Given the description of an element on the screen output the (x, y) to click on. 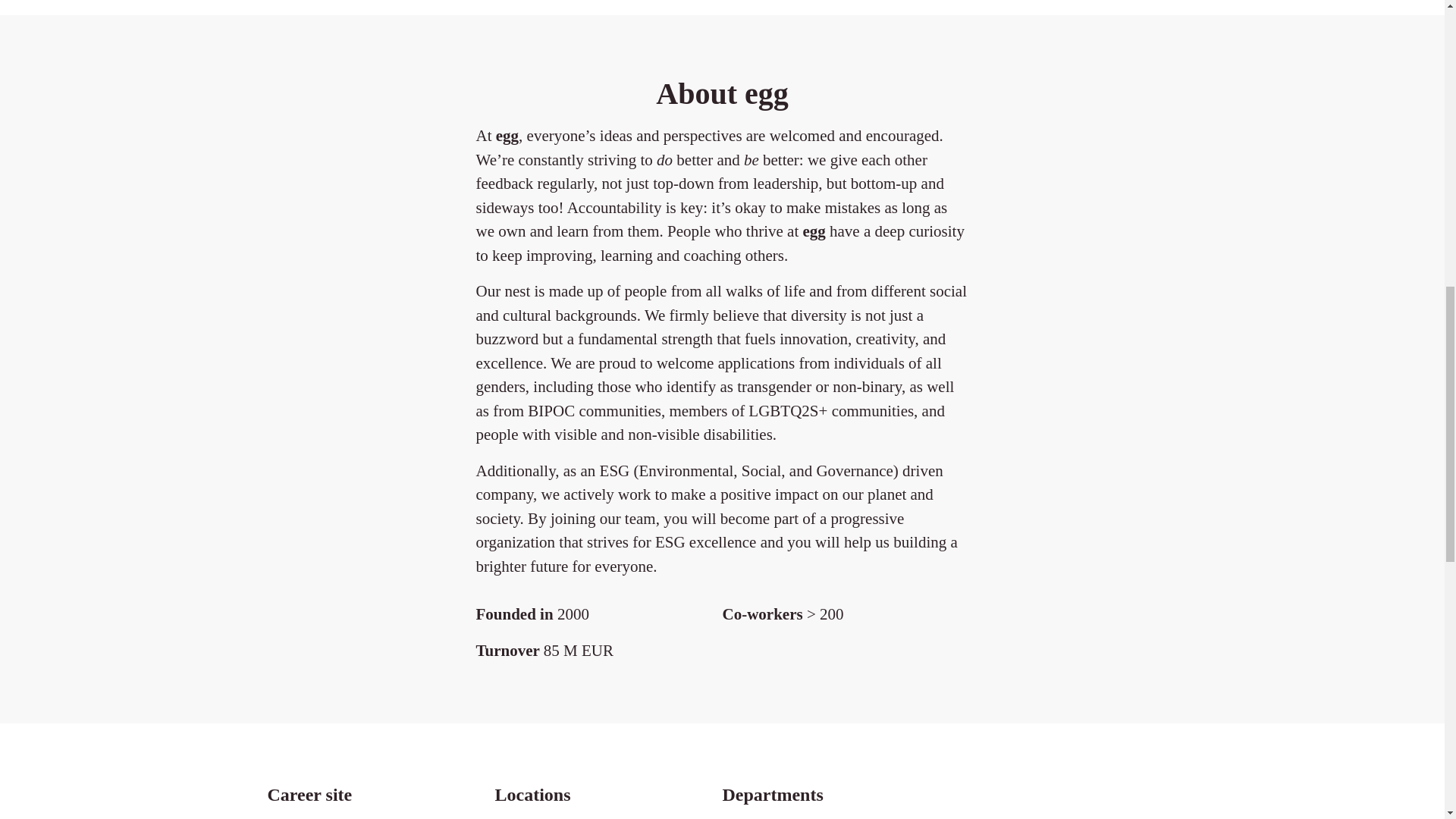
egg Dubai (522, 816)
Jobs (278, 816)
